Given the description of an element on the screen output the (x, y) to click on. 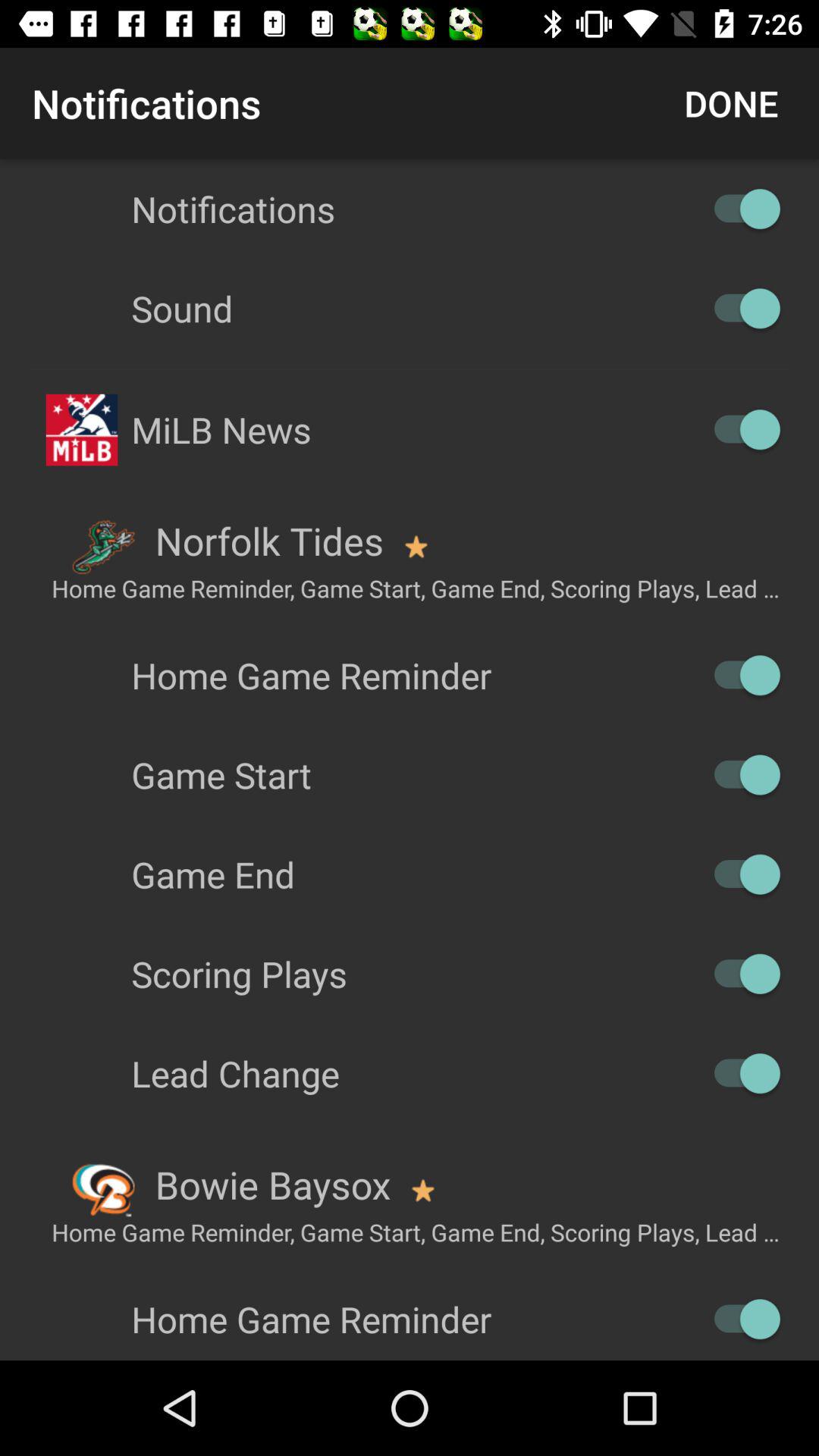
turn off scoring plays notifications (739, 973)
